Given the description of an element on the screen output the (x, y) to click on. 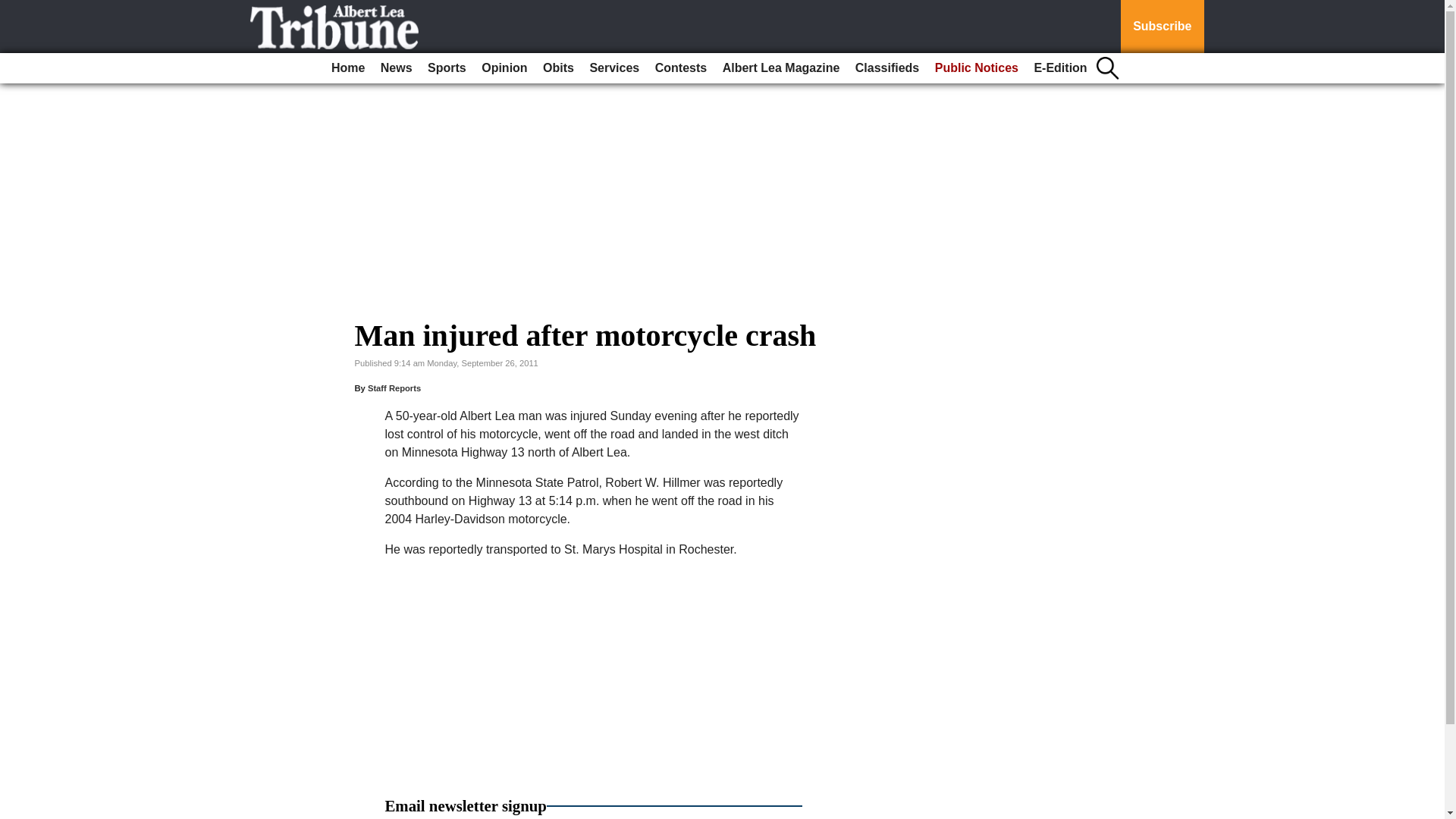
News (396, 68)
Services (614, 68)
Subscribe (1162, 26)
Opinion (504, 68)
Obits (558, 68)
Home (347, 68)
Sports (446, 68)
